Given the description of an element on the screen output the (x, y) to click on. 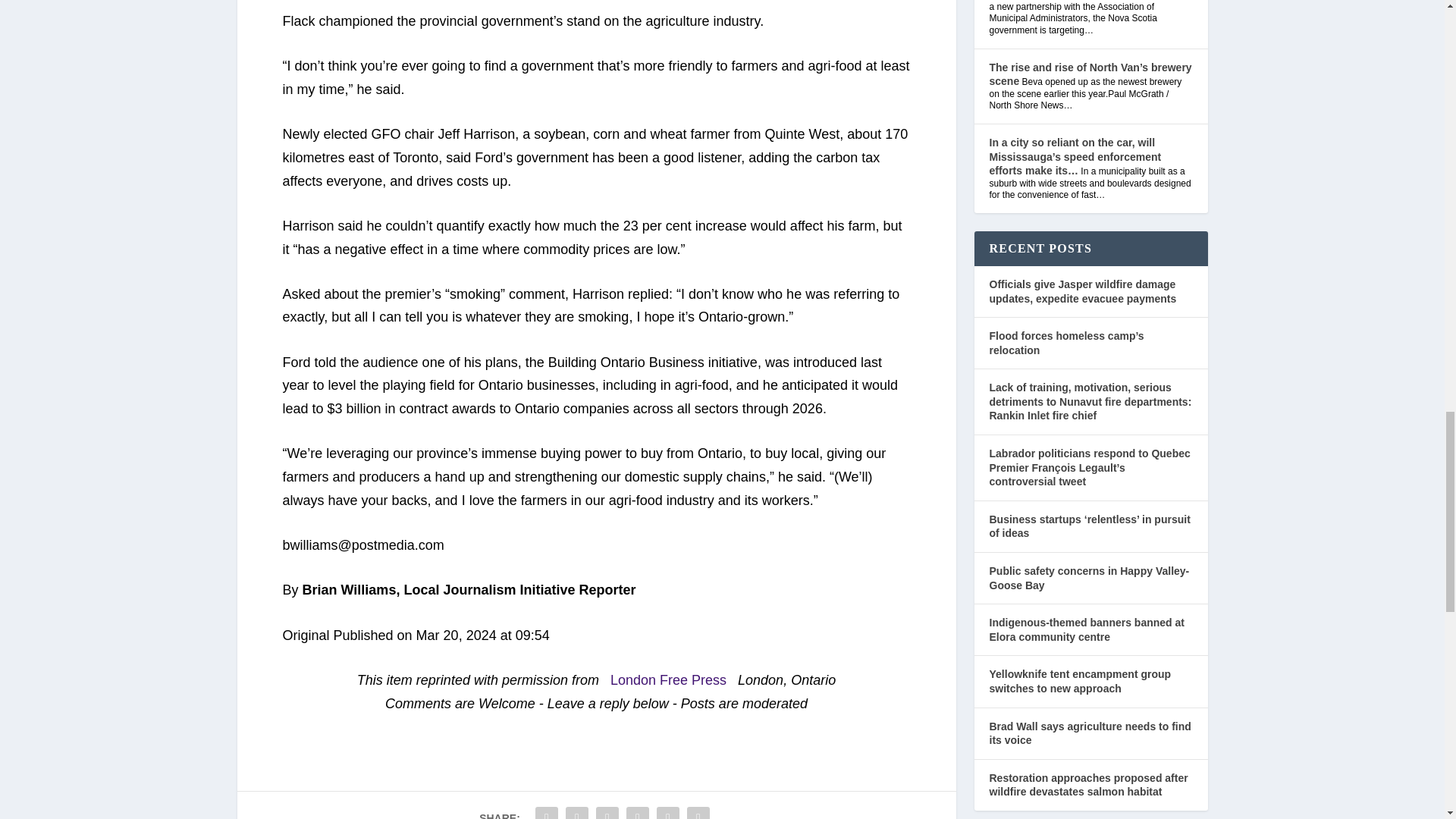
   London Free Press (662, 679)
